Given the description of an element on the screen output the (x, y) to click on. 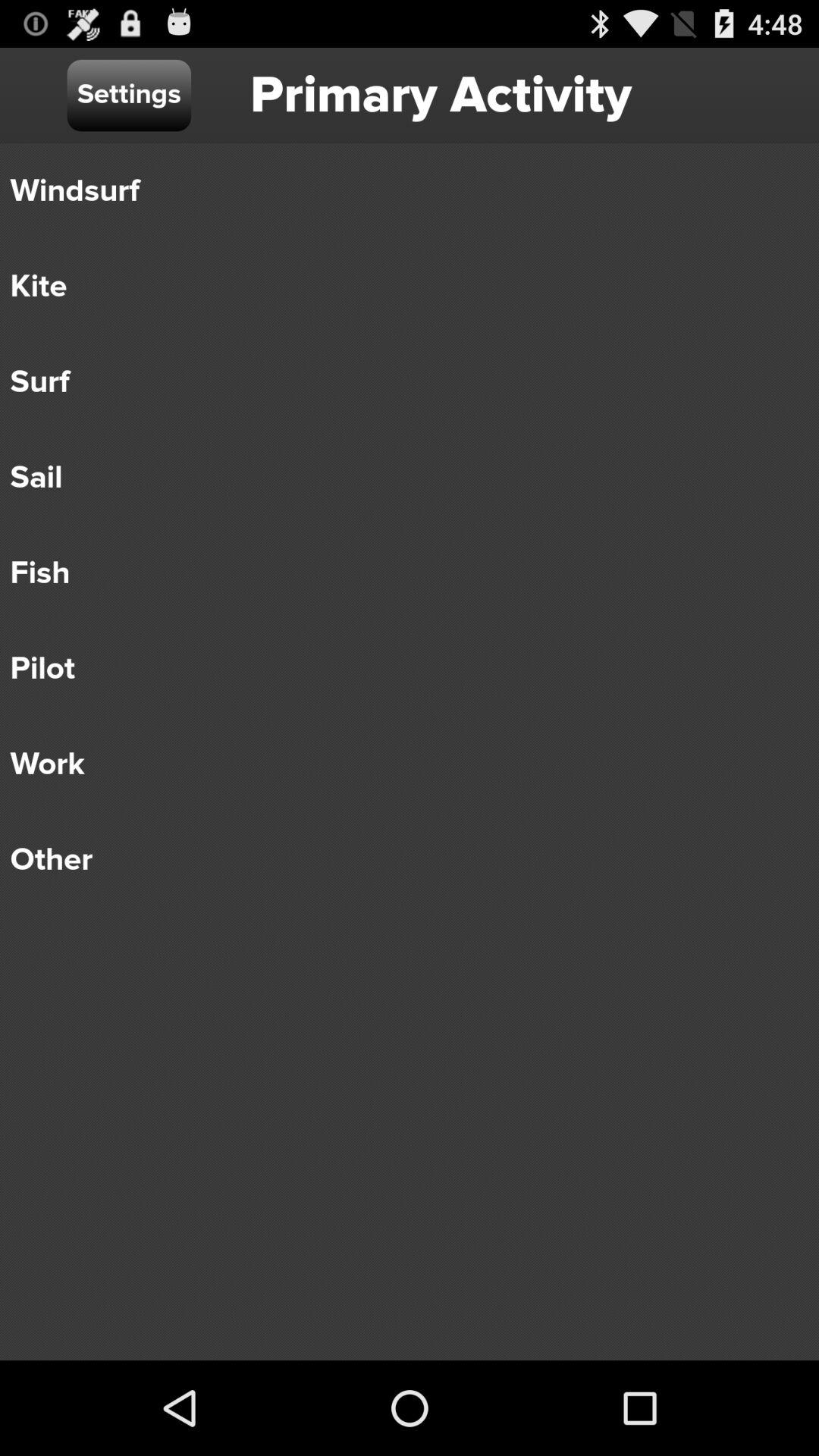
launch item below the windsurf item (399, 286)
